Given the description of an element on the screen output the (x, y) to click on. 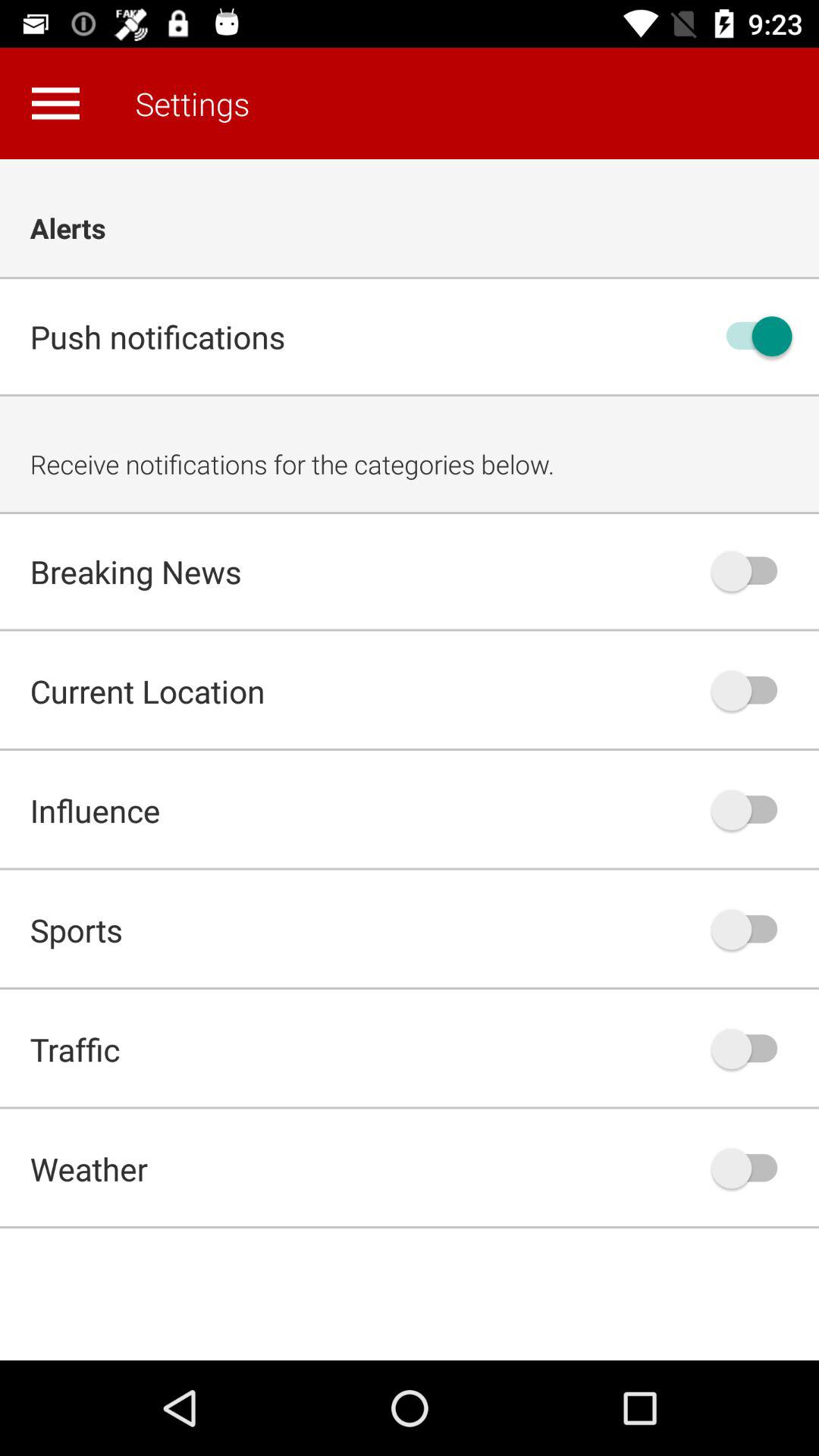
open menu (55, 103)
